Given the description of an element on the screen output the (x, y) to click on. 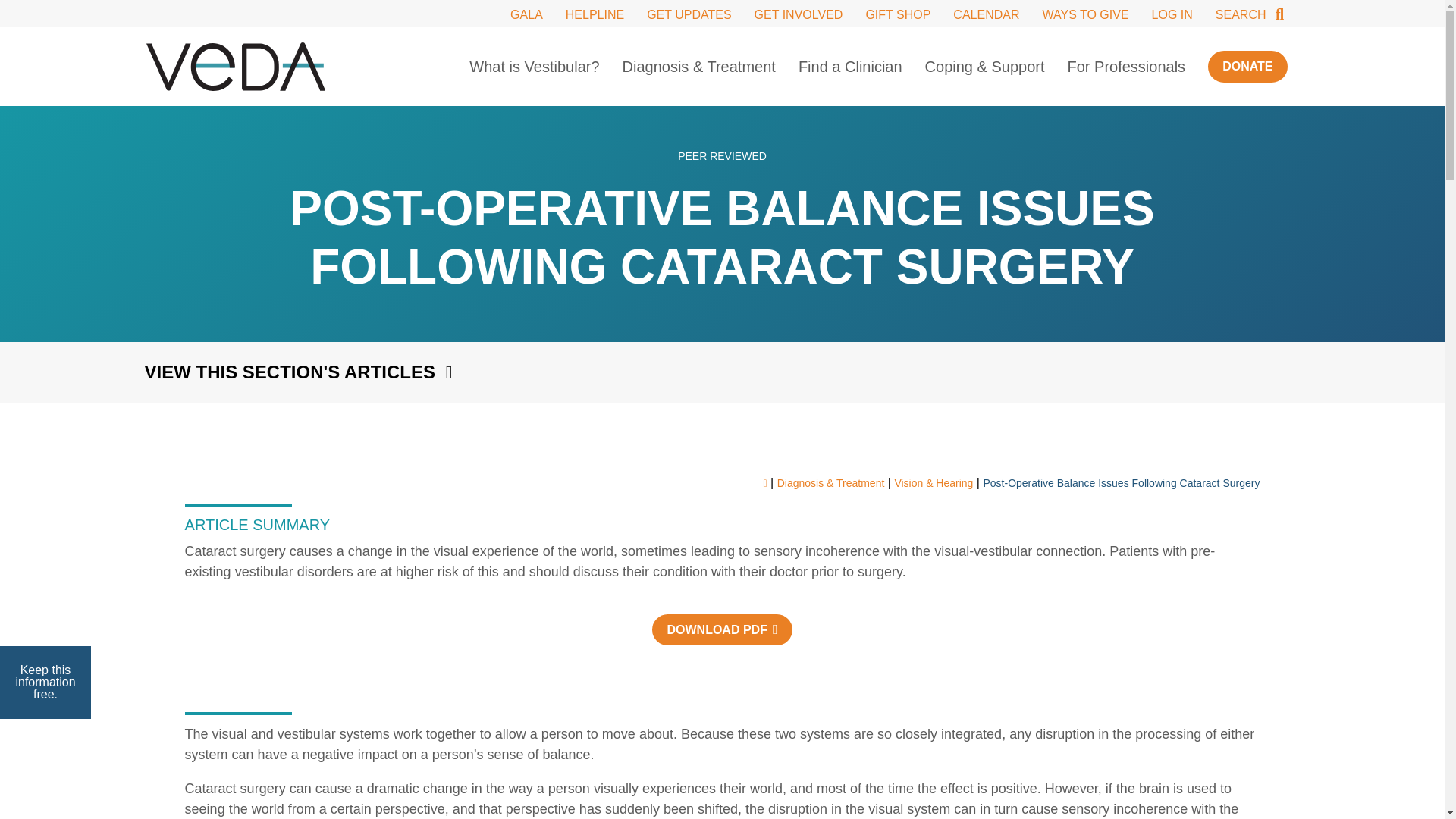
DONATE (1247, 65)
DOWNLOAD PDF (722, 629)
Keep this information free. (45, 682)
HELPLINE (595, 13)
LOG IN (1171, 13)
What is Vestibular? (533, 66)
Find a Clinician (849, 66)
WAYS TO GIVE (1085, 13)
For Professionals (1126, 66)
Search (1251, 13)
CALENDAR (986, 13)
Home (234, 66)
GIFT SHOP (897, 13)
GALA (527, 13)
GET INVOLVED (798, 13)
